Given the description of an element on the screen output the (x, y) to click on. 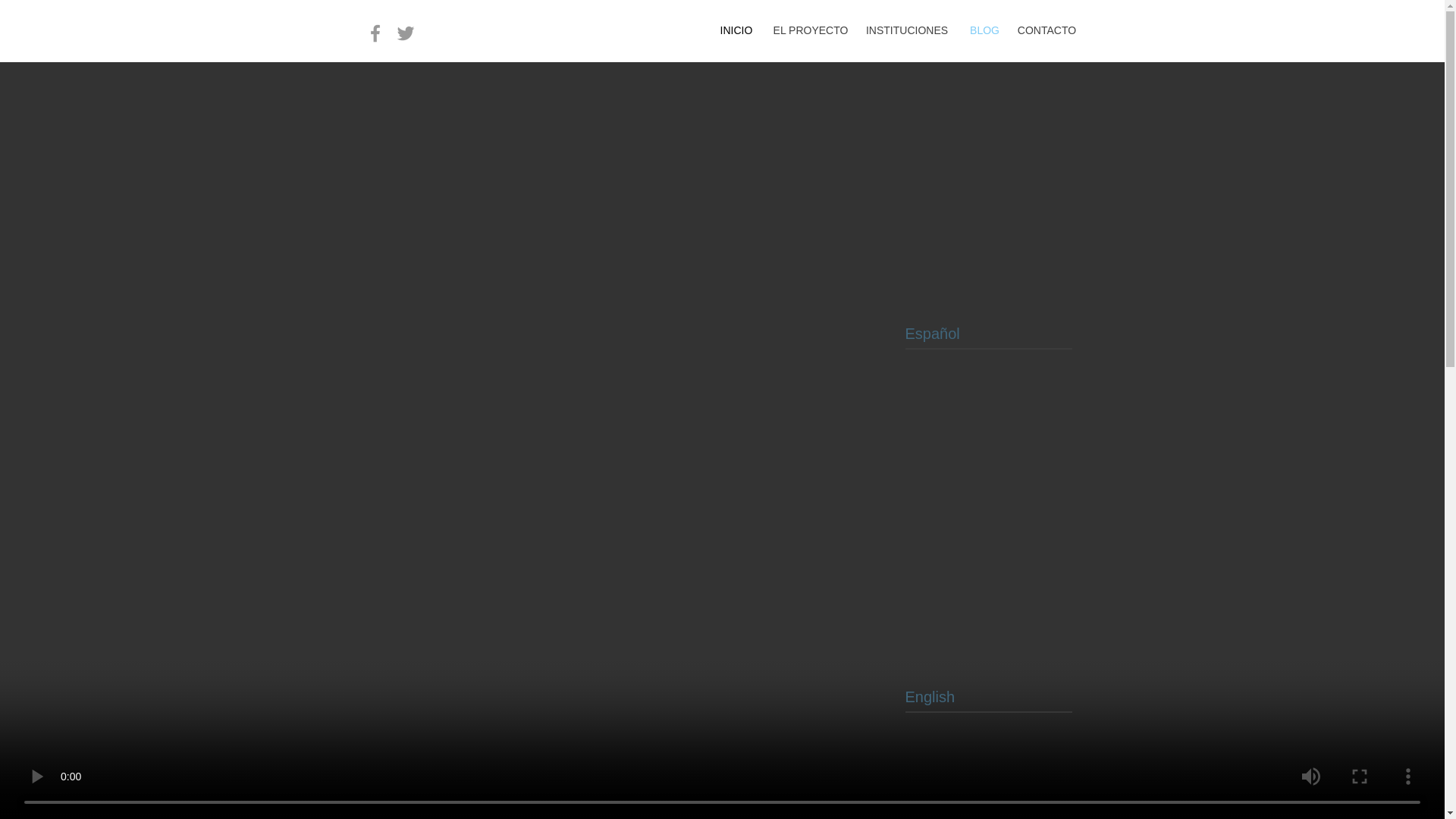
CONTACTO (1047, 30)
EL PROYECTO (810, 30)
INSTITUCIONES (907, 30)
BLOG (984, 30)
